Given the description of an element on the screen output the (x, y) to click on. 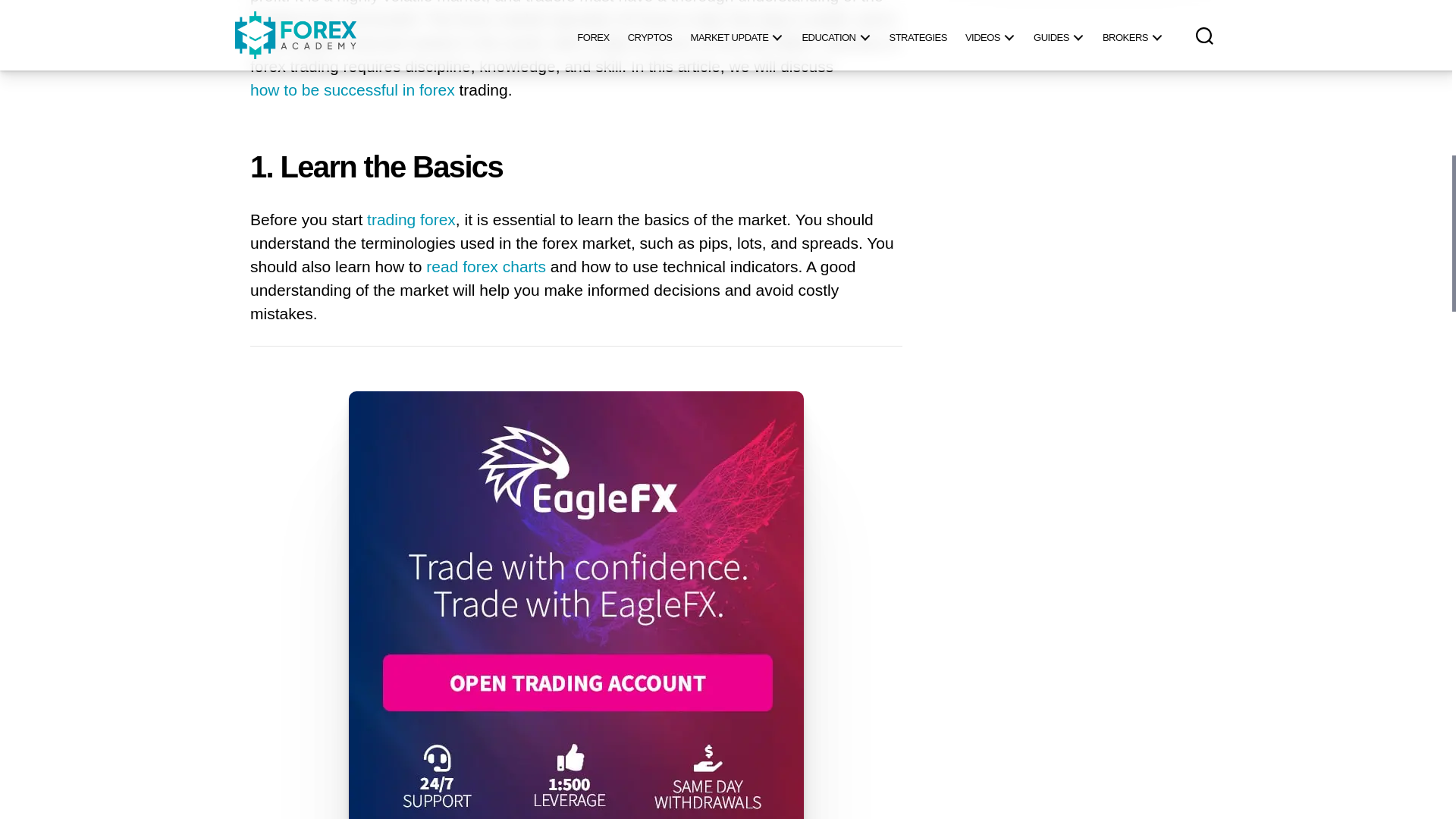
trading forex (410, 219)
read forex charts (486, 267)
how to be successful in forex (352, 90)
